Given the description of an element on the screen output the (x, y) to click on. 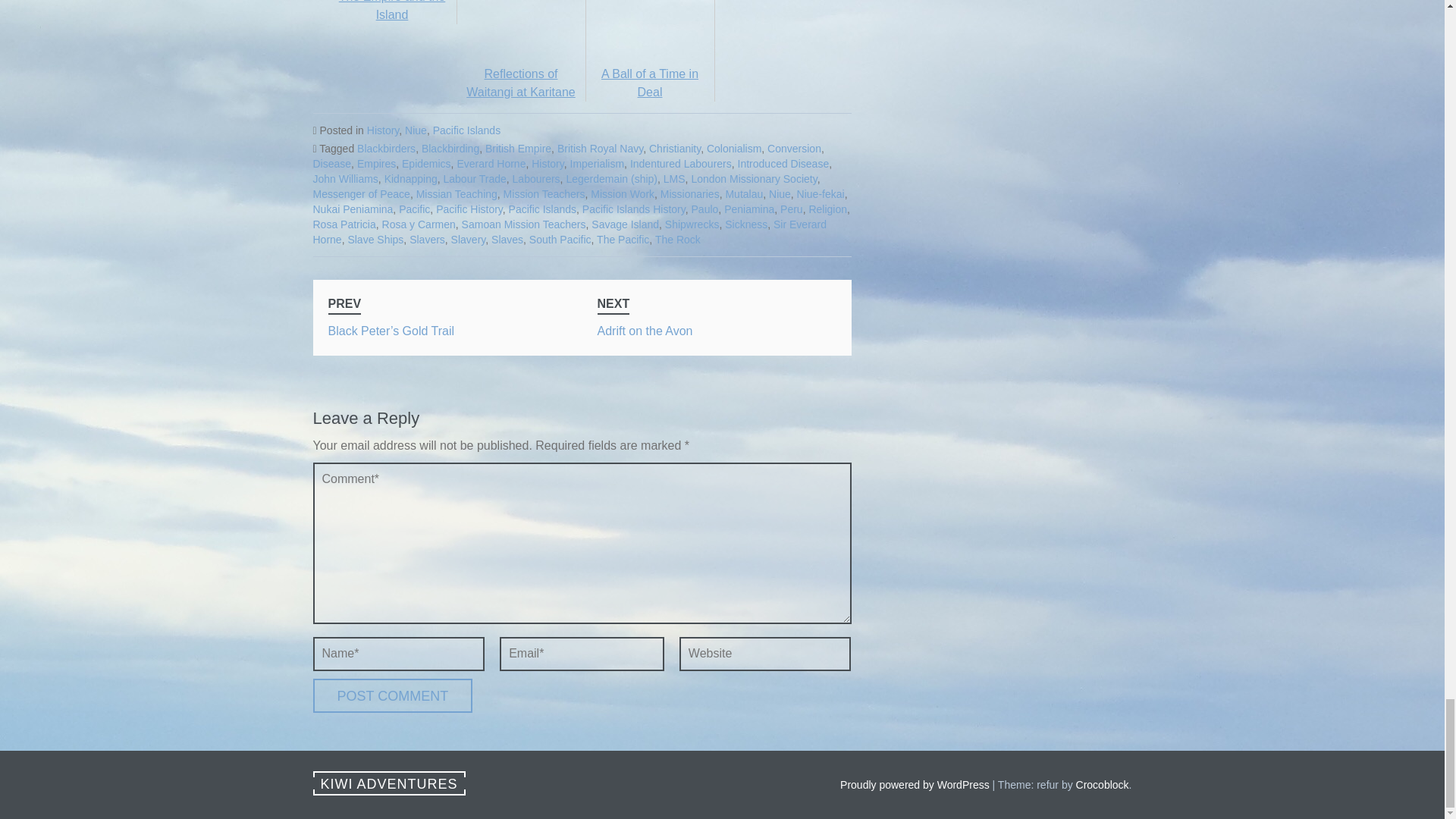
British Royal Navy (600, 148)
Post Comment (392, 695)
Niue (415, 130)
The Empire and the Island (391, 10)
Reflections of Waitangi at Karitane (521, 49)
Blackbirders (385, 148)
A Ball of a Time in Deal (649, 49)
Blackbirding (450, 148)
British Empire (517, 148)
Pacific Islands (466, 130)
History (382, 130)
